Given the description of an element on the screen output the (x, y) to click on. 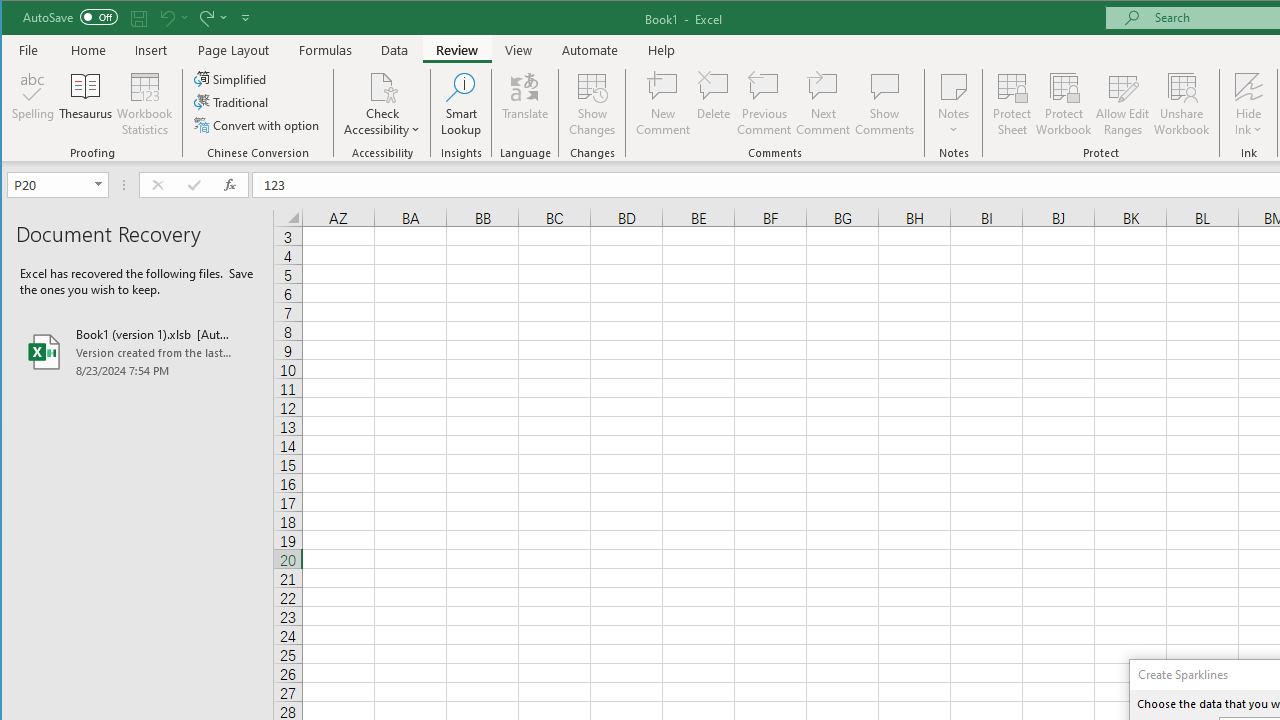
Thesaurus... (86, 104)
Book1 (version 1).xlsb  [AutoRecovered] (137, 352)
Traditional (232, 101)
View (518, 50)
Smart Lookup (461, 104)
Translate (525, 104)
Insert (151, 50)
Save (139, 17)
Delete (713, 104)
New Comment (662, 104)
Check Accessibility (381, 104)
Home (88, 50)
File Tab (29, 49)
